Given the description of an element on the screen output the (x, y) to click on. 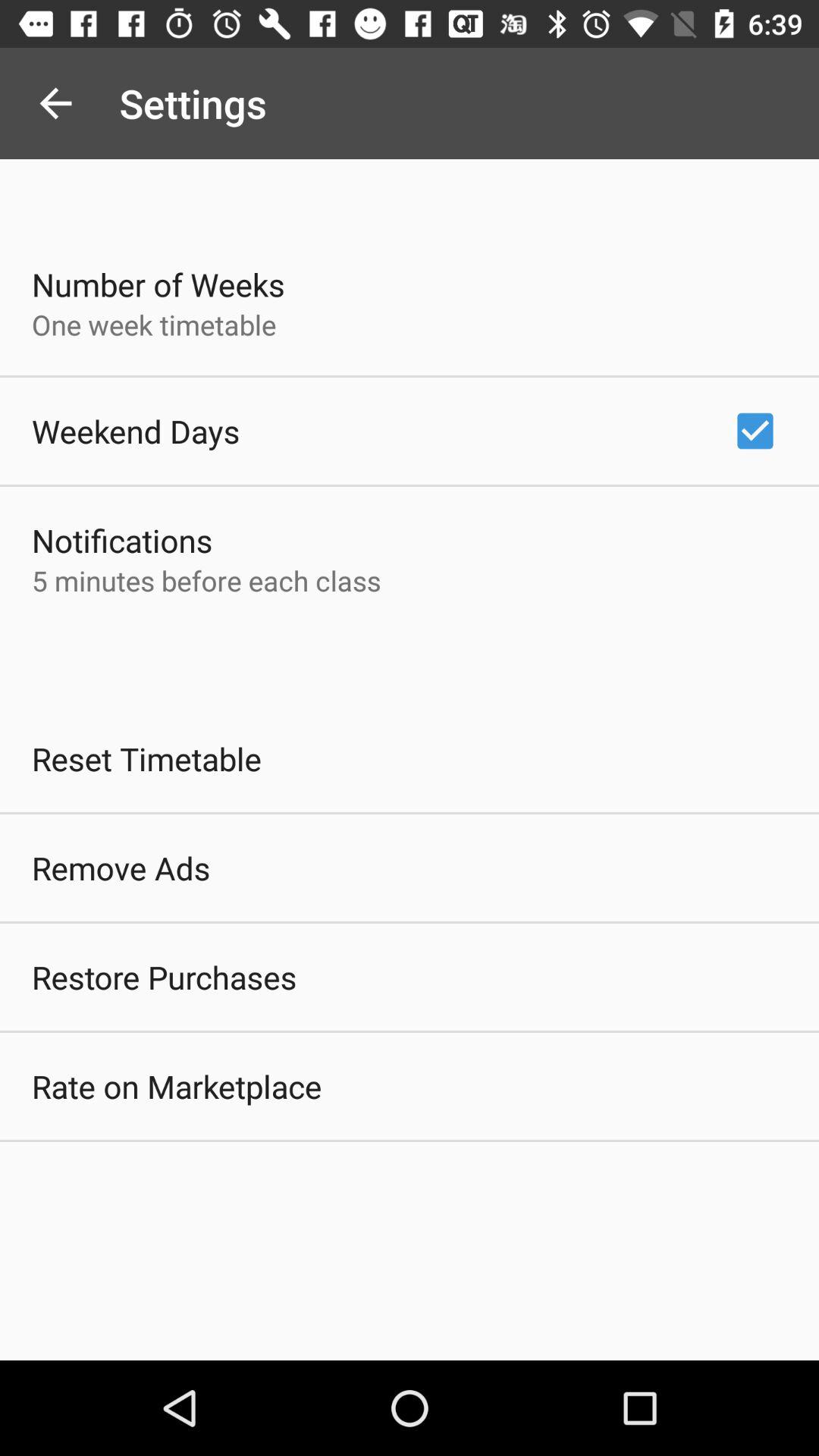
select notifications app (121, 539)
